Given the description of an element on the screen output the (x, y) to click on. 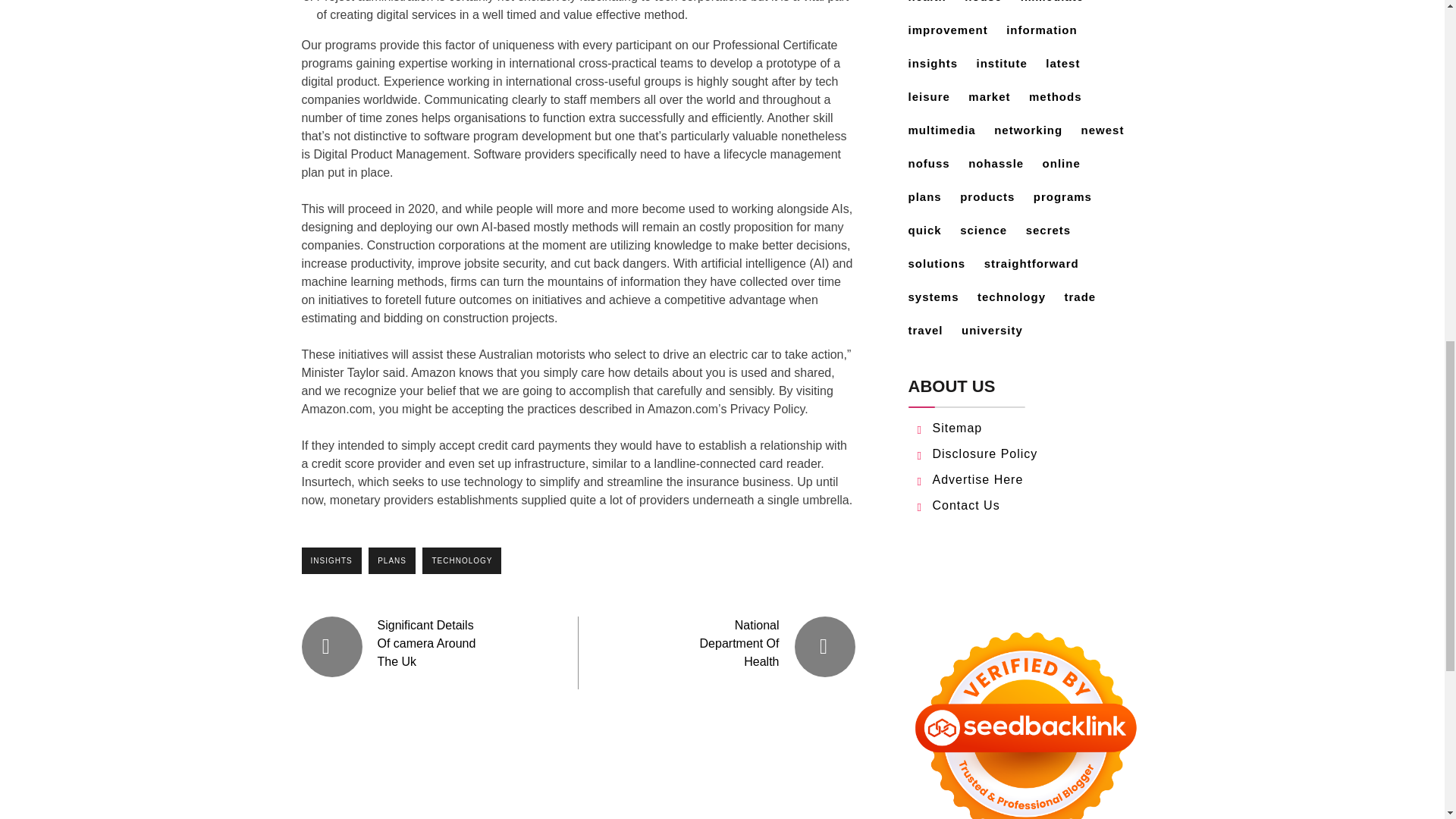
National Department Of Health (739, 643)
TECHNOLOGY (461, 560)
Significant Details Of camera Around The Uk (426, 643)
INSIGHTS (331, 560)
PLANS (391, 560)
Seedbacklink (1025, 717)
